Given the description of an element on the screen output the (x, y) to click on. 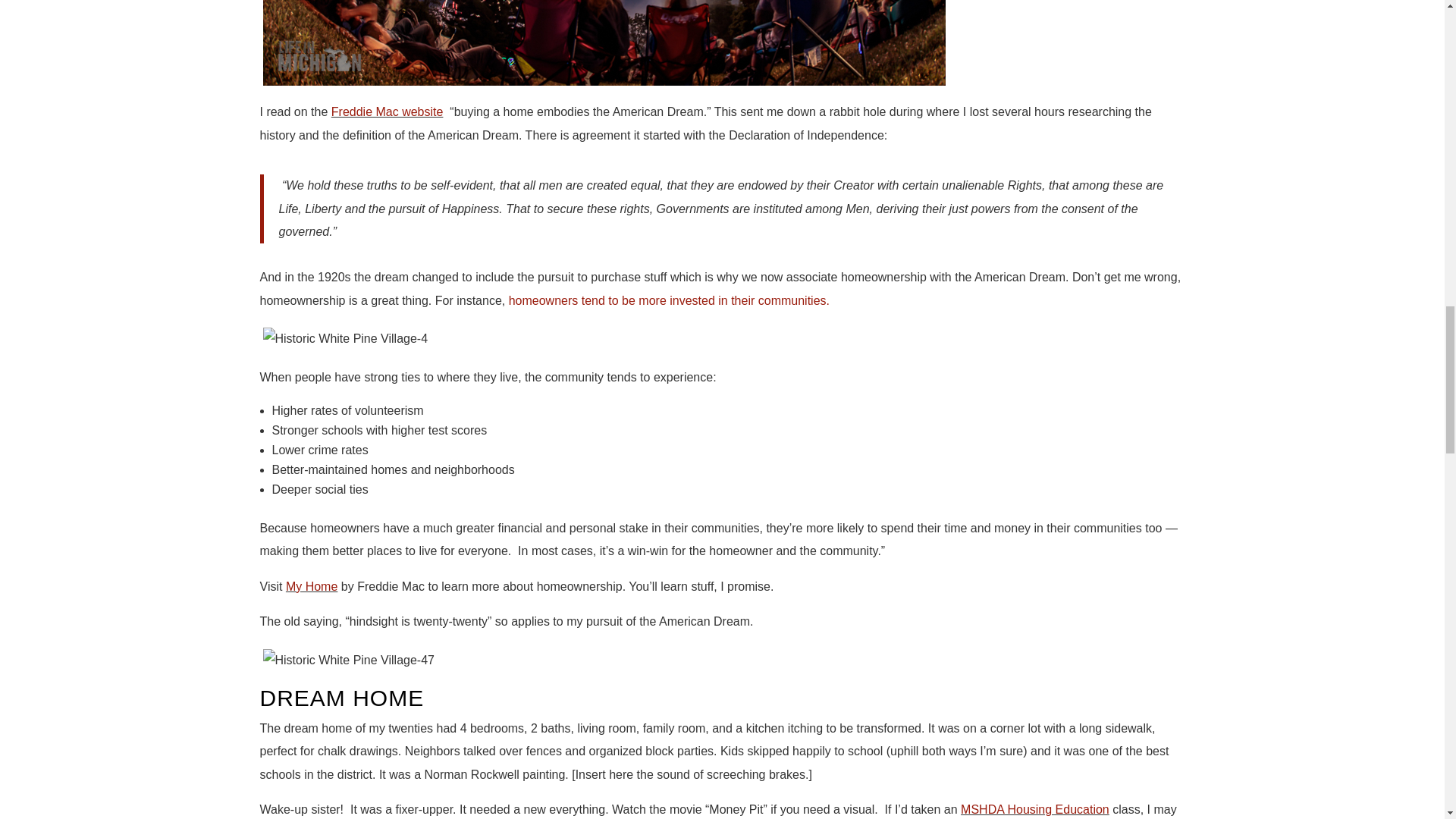
homeowners tend to be more invested in their communities. (668, 300)
My Home (311, 585)
MSHDA Housing Education (1034, 809)
Freddie Mac website (387, 111)
